Given the description of an element on the screen output the (x, y) to click on. 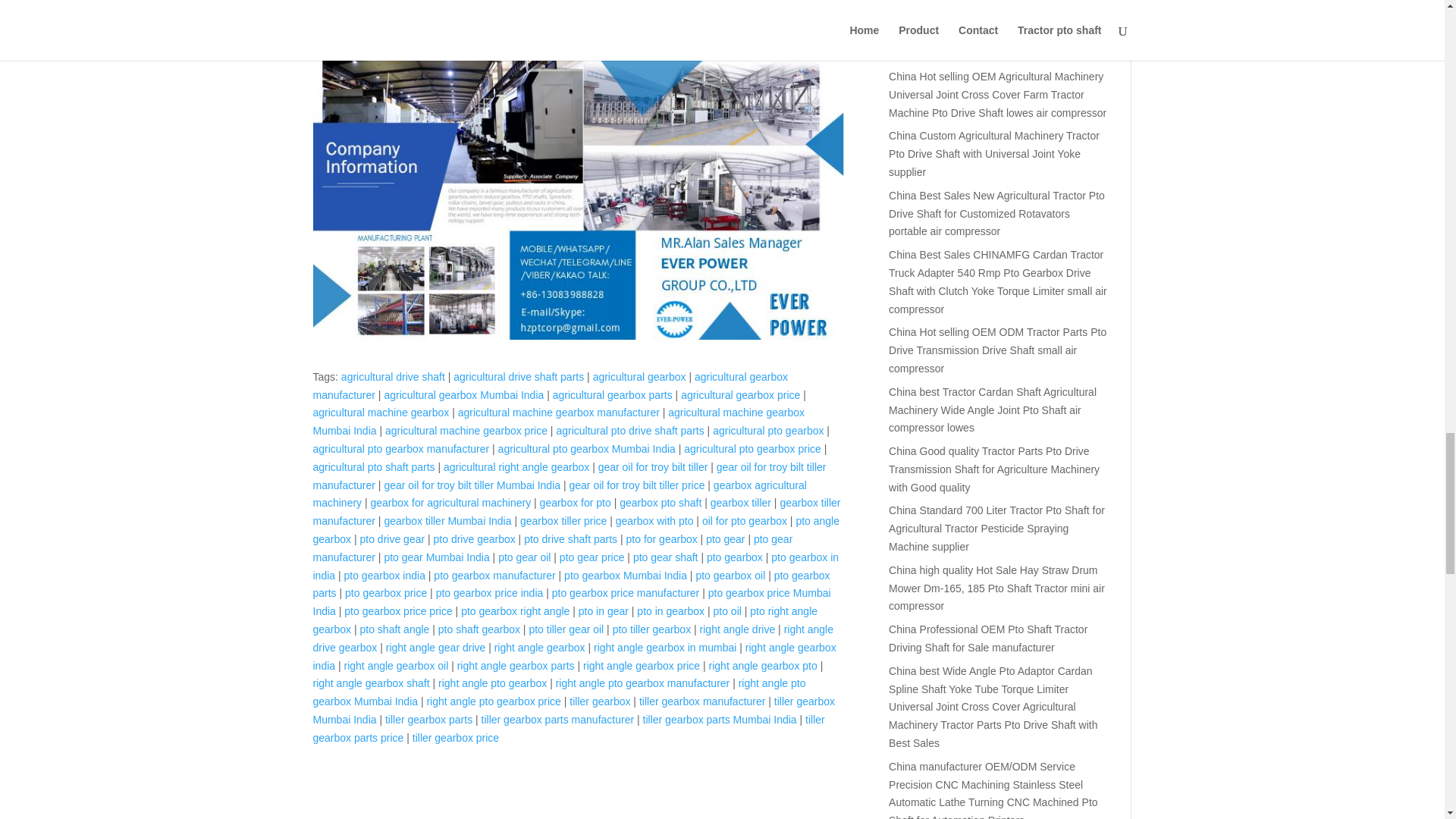
gearbox for agricultural machinery (451, 502)
gearbox tiller price (563, 521)
agricultural pto gearbox (768, 430)
gearbox with pto (654, 521)
agricultural right angle gearbox (516, 467)
pto angle gearbox (576, 530)
agricultural machine gearbox manufacturer (558, 412)
agricultural gearbox manufacturer (550, 386)
gearbox tiller Mumbai India (447, 521)
gearbox tiller (740, 502)
gear oil for troy bilt tiller price (636, 485)
agricultural machine gearbox Mumbai India (559, 421)
gear oil for troy bilt tiller Mumbai India (472, 485)
agricultural gearbox parts (612, 395)
gear oil for troy bilt tiller manufacturer (569, 476)
